Given the description of an element on the screen output the (x, y) to click on. 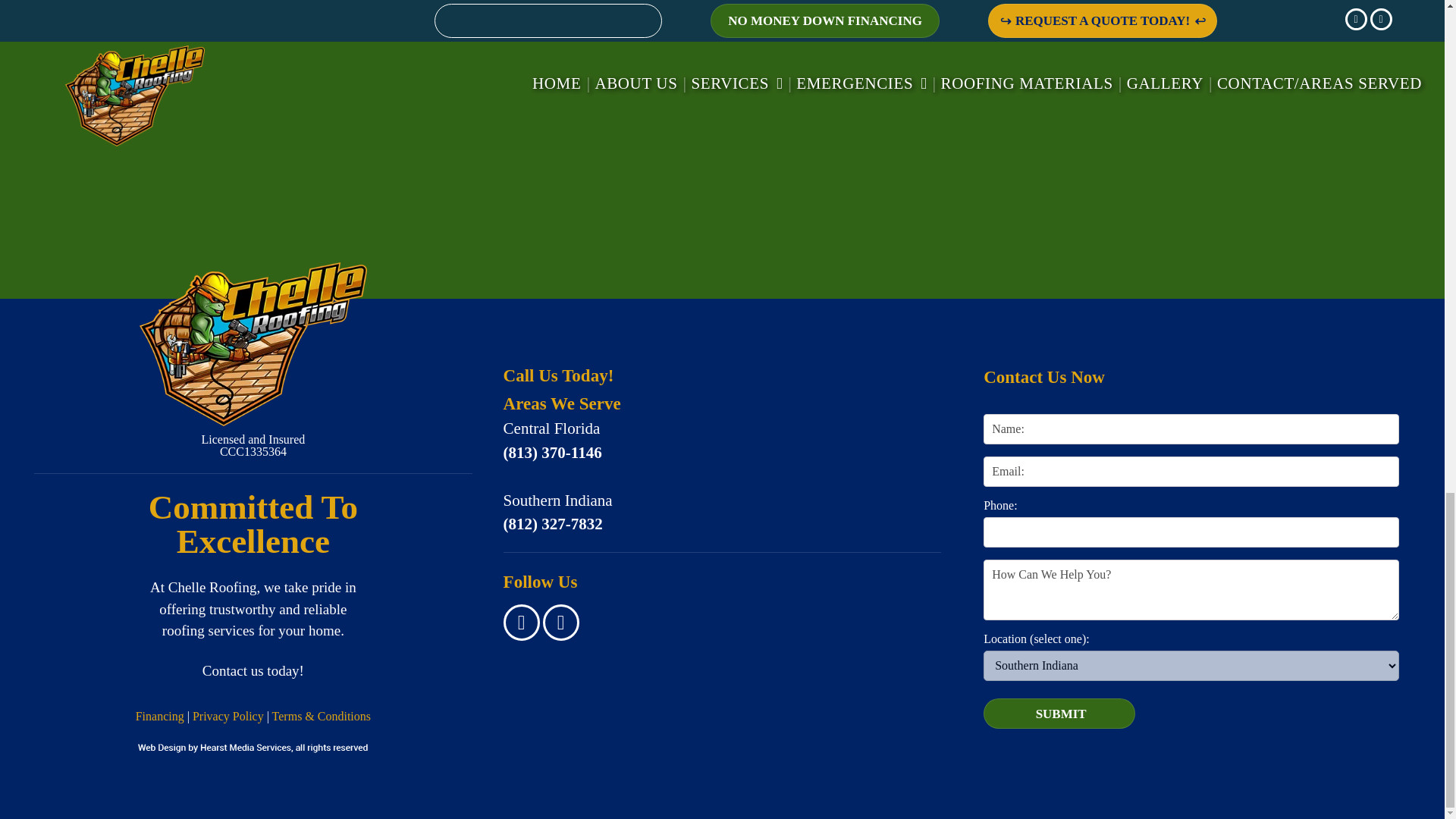
Financing (159, 716)
SUBMIT (1060, 714)
Privacy Policy (227, 716)
